Given the description of an element on the screen output the (x, y) to click on. 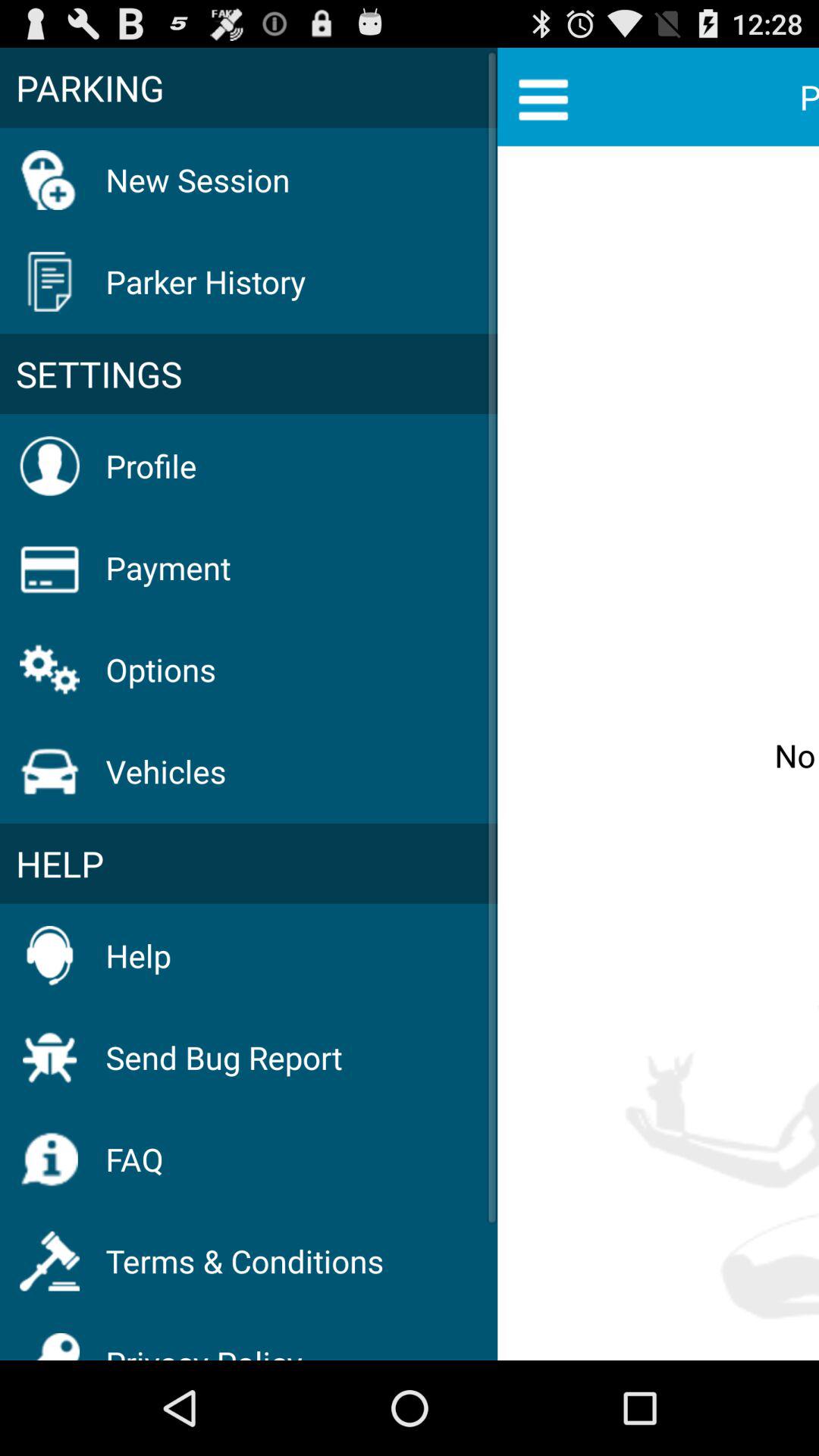
click icon below terms & conditions (203, 1342)
